Given the description of an element on the screen output the (x, y) to click on. 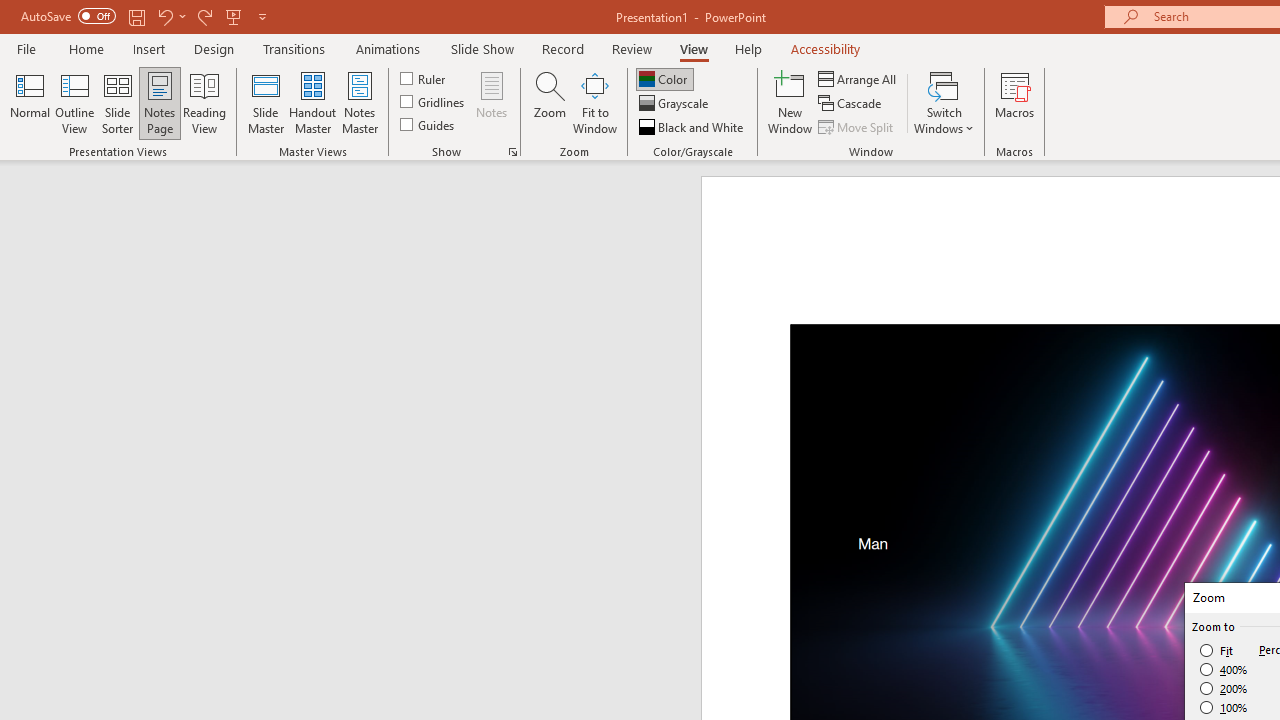
Gridlines (433, 101)
Black and White (693, 126)
Notes Master (360, 102)
Color (664, 78)
